Given the description of an element on the screen output the (x, y) to click on. 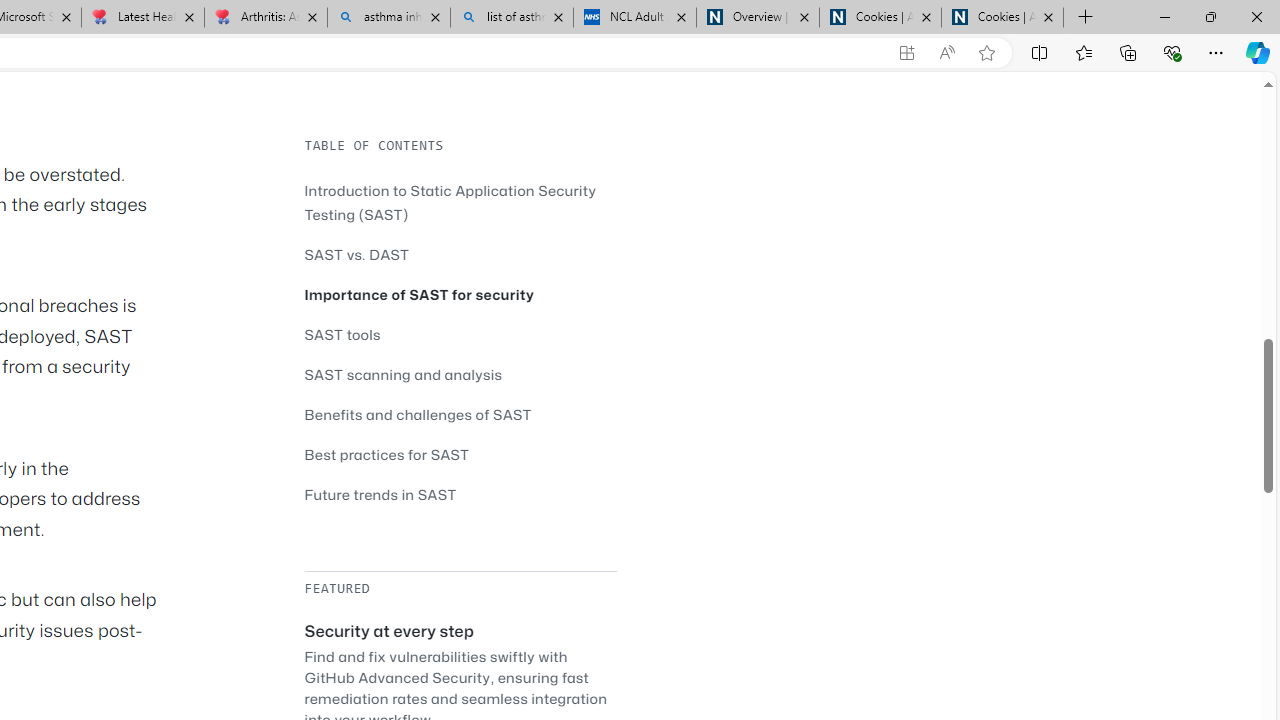
App available. Install GitHub (906, 53)
Importance of SAST for security (419, 294)
Best practices for SAST (460, 454)
Best practices for SAST (386, 453)
Introduction to Static Application Security Testing (SAST) (460, 201)
asthma inhaler - Search (388, 17)
Cookies | About | NICE (1002, 17)
Benefits and challenges of SAST (460, 413)
